Given the description of an element on the screen output the (x, y) to click on. 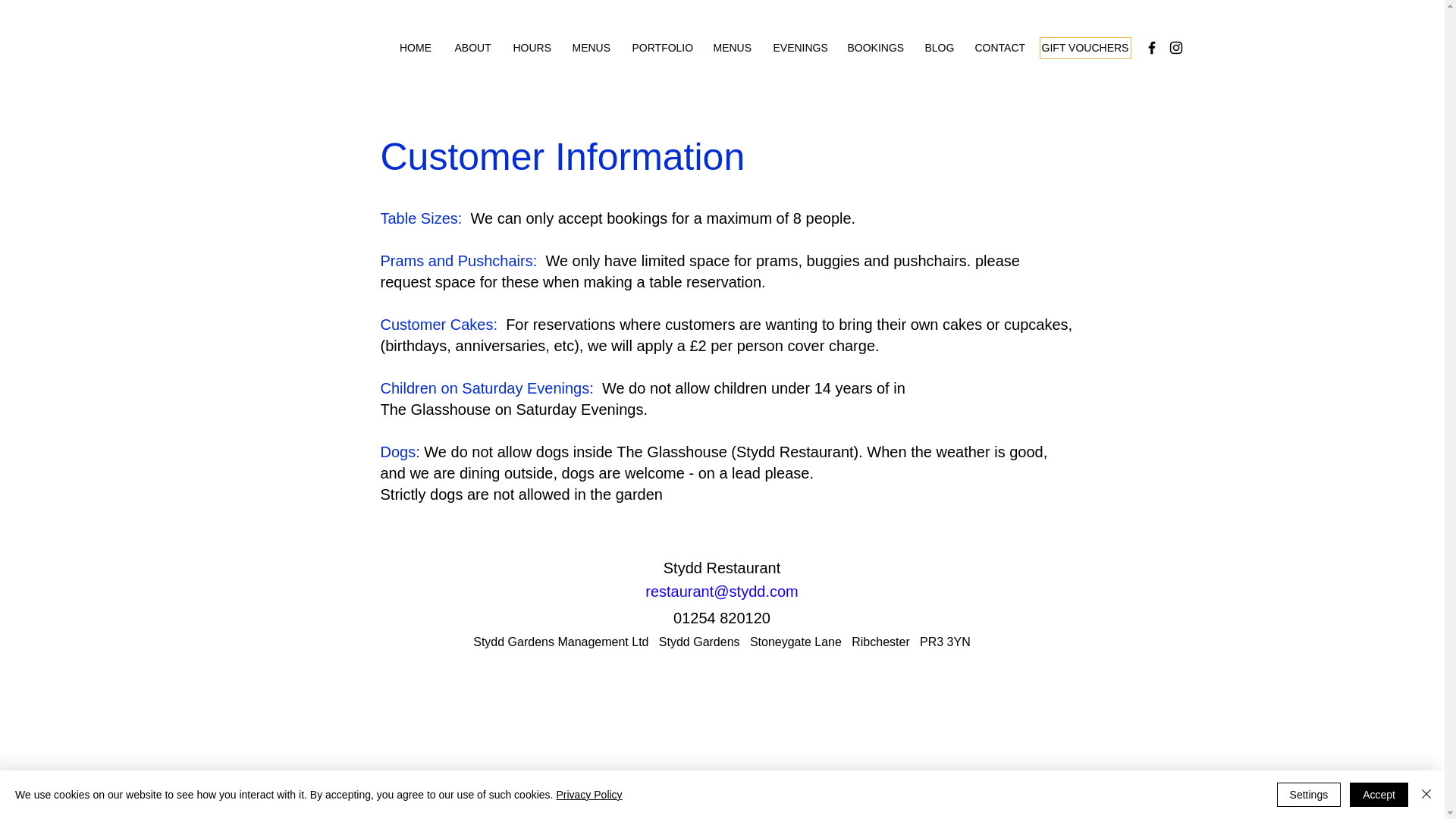
Privacy Policy (588, 794)
Settings (1308, 794)
GIFT VOUCHERS (1085, 47)
ABOUT (471, 47)
HOME (416, 47)
EVENINGS (798, 47)
BOOKINGS (873, 47)
PORTFOLIO (660, 47)
HOURS (531, 47)
BLOG (937, 47)
MENUS (731, 47)
Accept (1378, 794)
MENUS (590, 47)
CONTACT (998, 47)
